Given the description of an element on the screen output the (x, y) to click on. 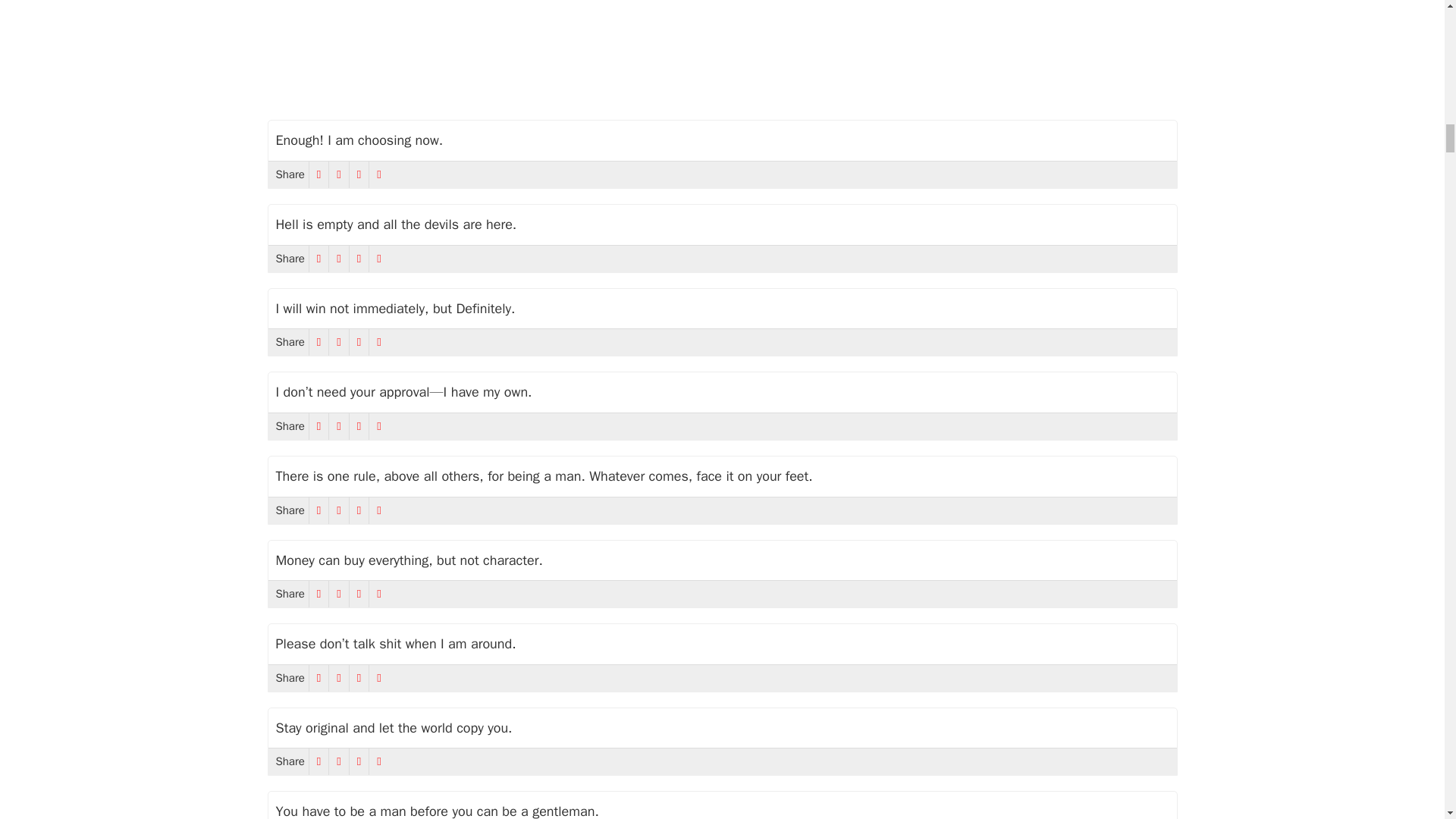
Advertisement (721, 48)
